Given the description of an element on the screen output the (x, y) to click on. 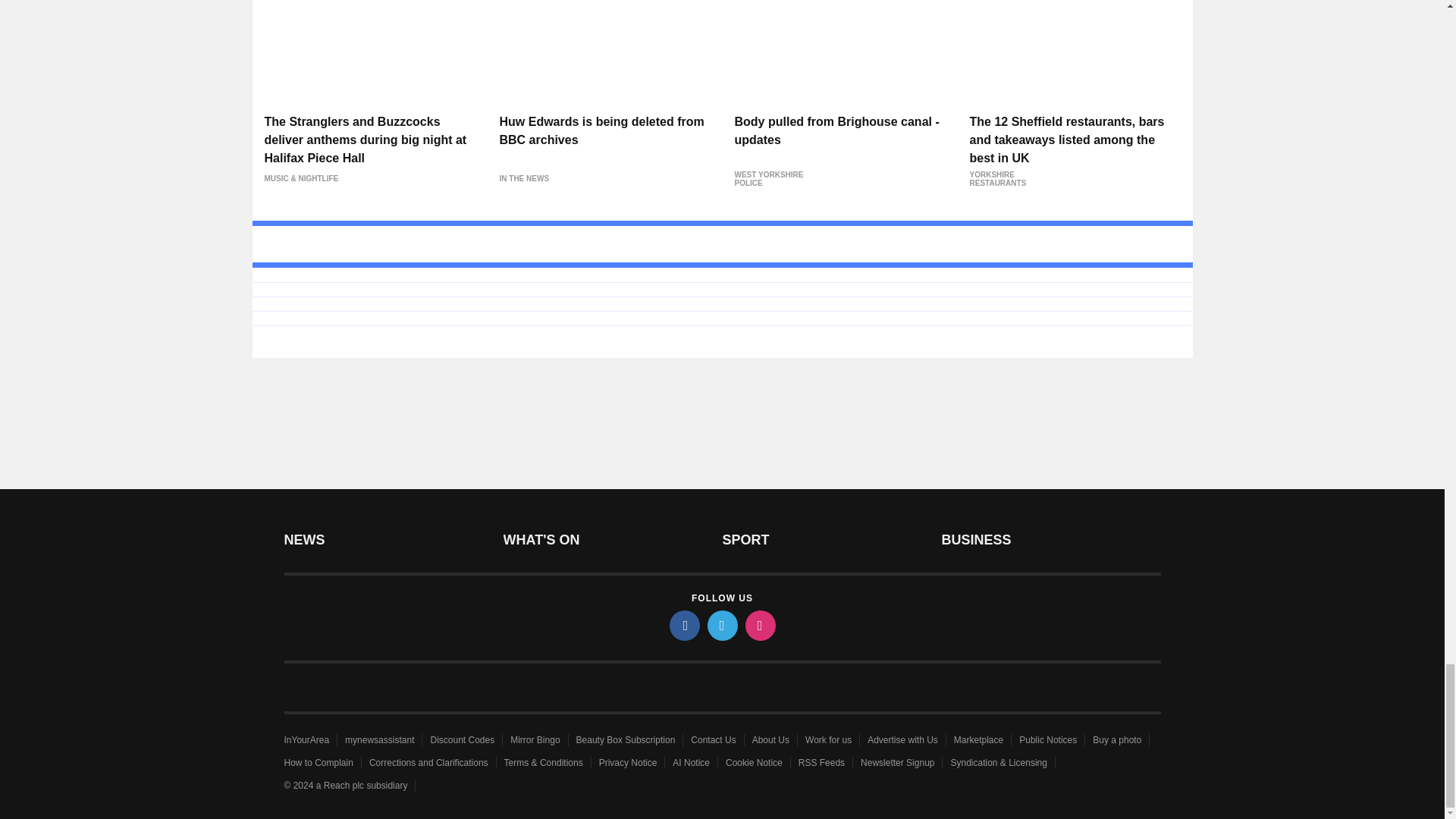
instagram (759, 625)
facebook (683, 625)
twitter (721, 625)
